Given the description of an element on the screen output the (x, y) to click on. 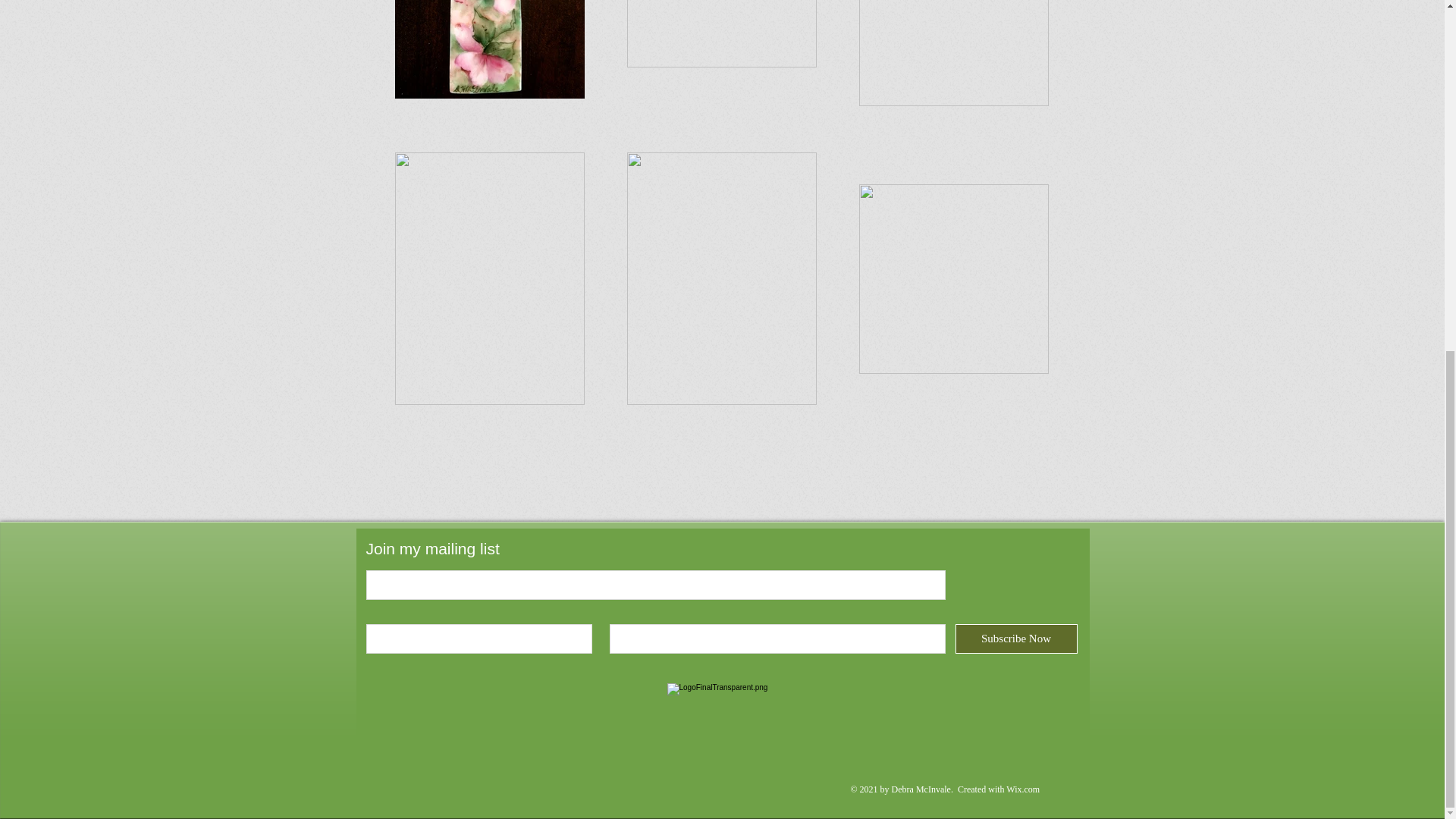
Wix.com (1022, 788)
Subscribe Now (1016, 638)
